Given the description of an element on the screen output the (x, y) to click on. 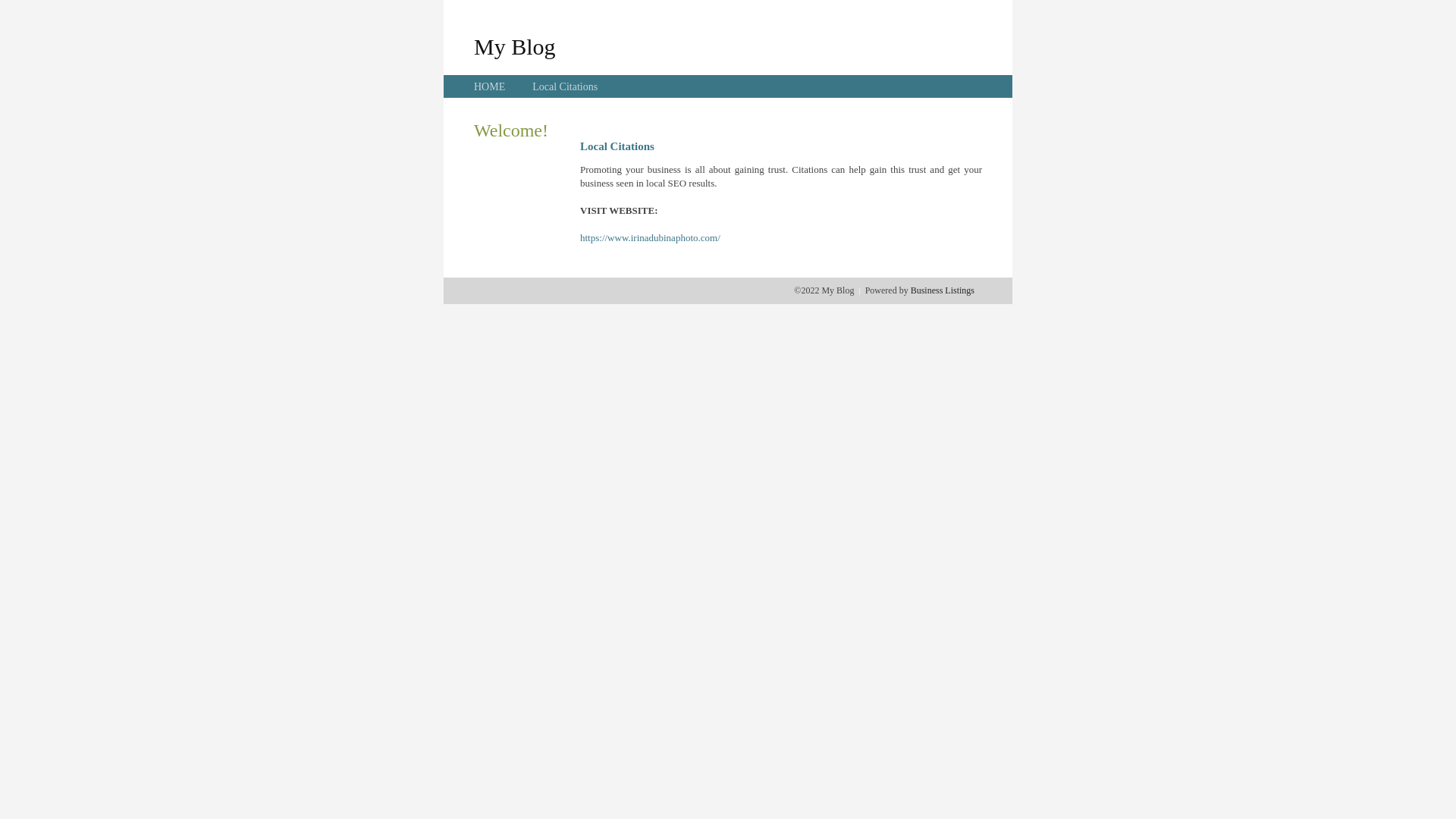
Business Listings Element type: text (942, 290)
Local Citations Element type: text (564, 86)
HOME Element type: text (489, 86)
My Blog Element type: text (514, 46)
https://www.irinadubinaphoto.com/ Element type: text (650, 237)
